Given the description of an element on the screen output the (x, y) to click on. 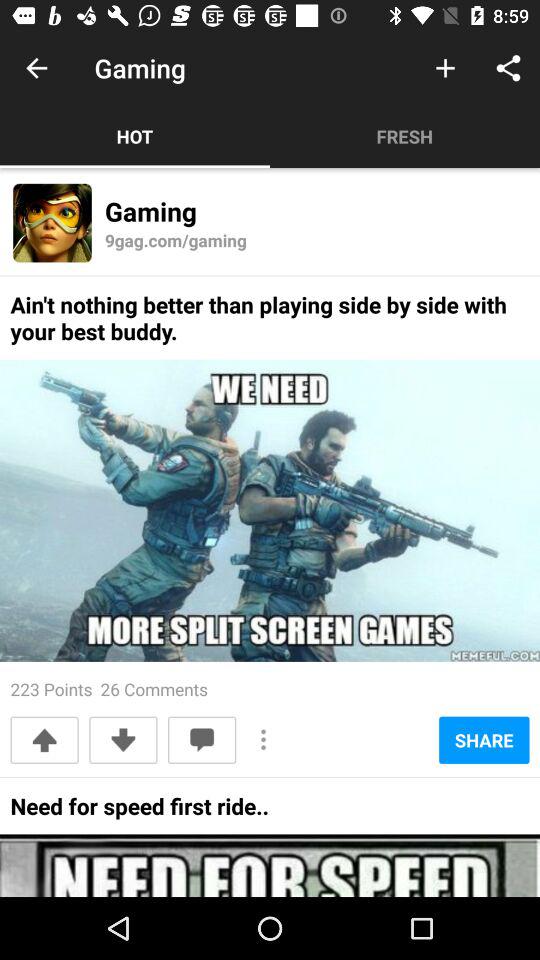
tap item below 223 points 	26 item (202, 739)
